Given the description of an element on the screen output the (x, y) to click on. 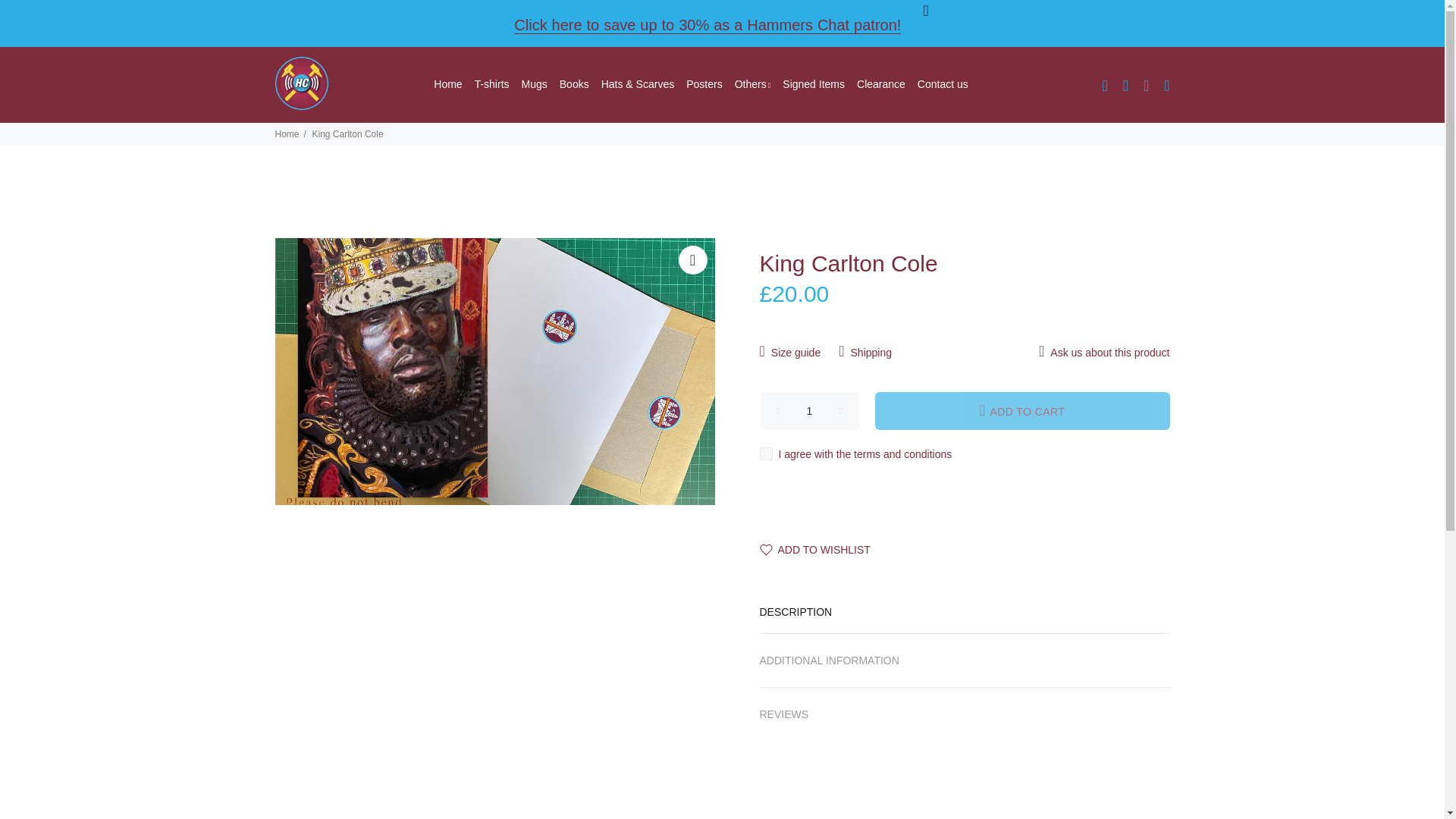
Mugs (534, 84)
Clearance (880, 84)
Others (753, 84)
Signed Items (813, 84)
T-shirts (491, 84)
Contact us (939, 84)
1 (810, 410)
Posters (703, 84)
Home (446, 84)
Books (574, 84)
